Given the description of an element on the screen output the (x, y) to click on. 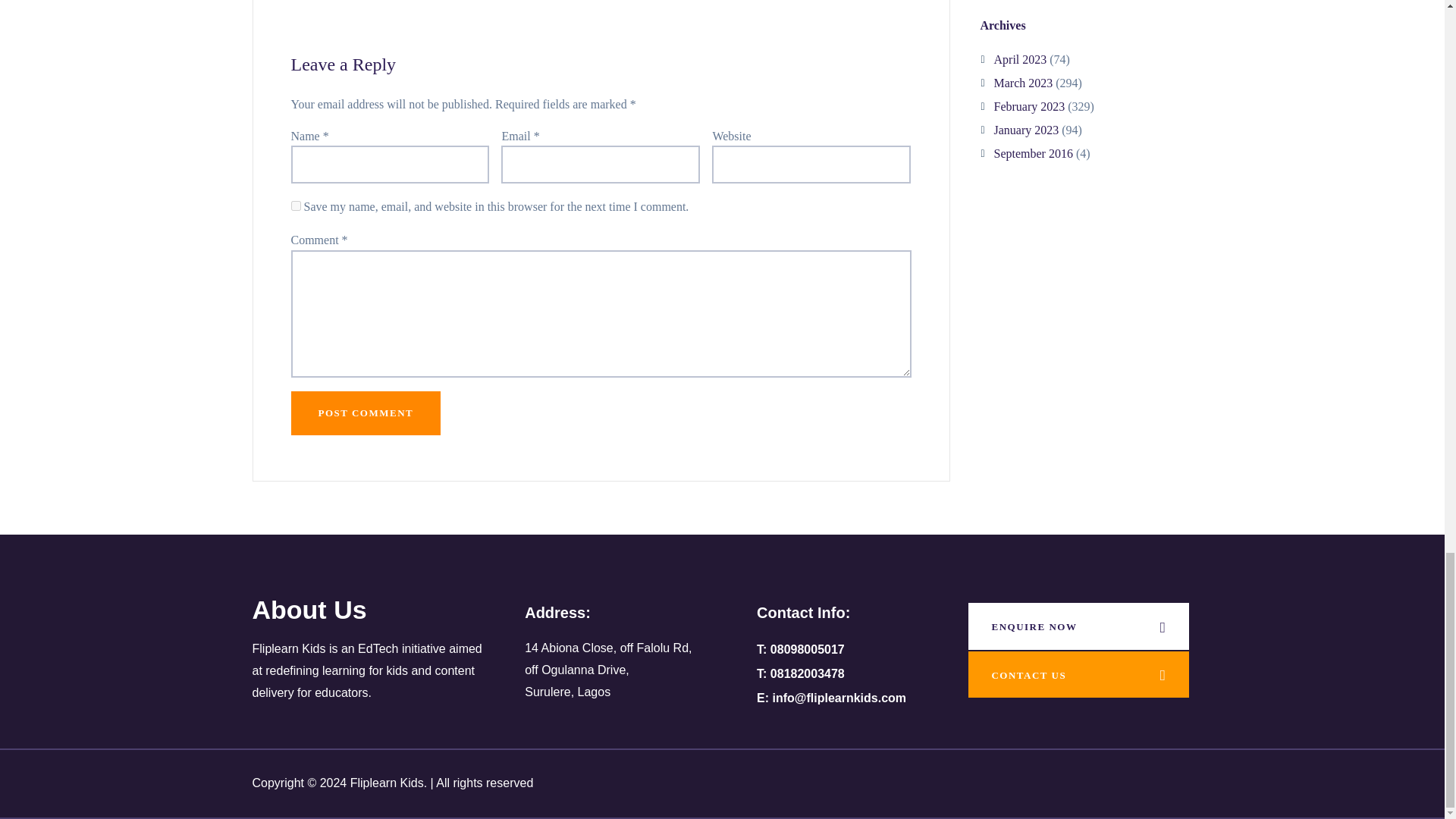
yes (296, 205)
Post Comment (366, 412)
